Given the description of an element on the screen output the (x, y) to click on. 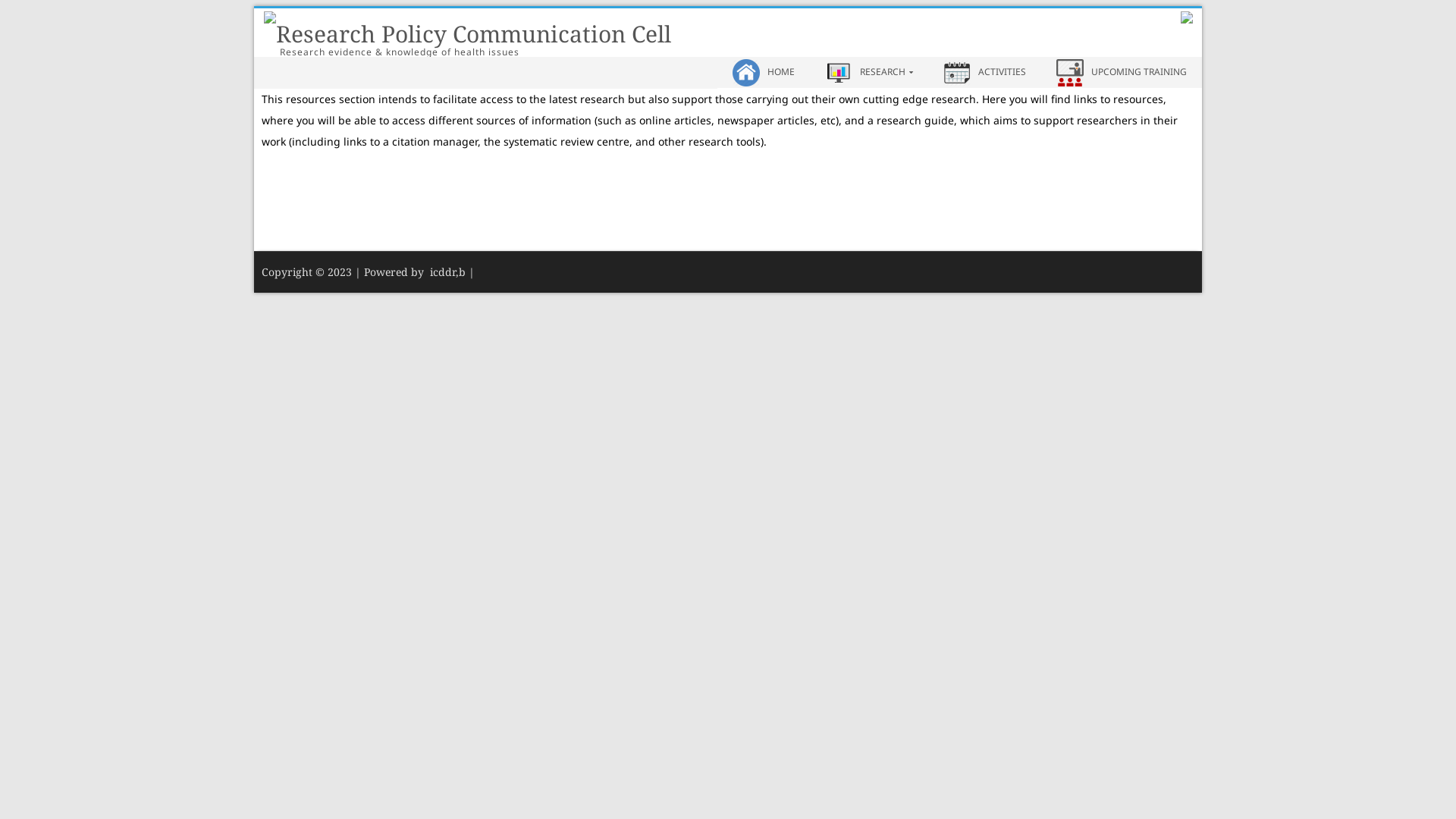
ACTIVITIES Element type: text (984, 72)
RESEARCH Element type: text (868, 72)
Research Policy Communication Cell Element type: text (473, 33)
UPCOMING TRAINING Element type: text (1121, 72)
HOME Element type: text (763, 72)
